Given the description of an element on the screen output the (x, y) to click on. 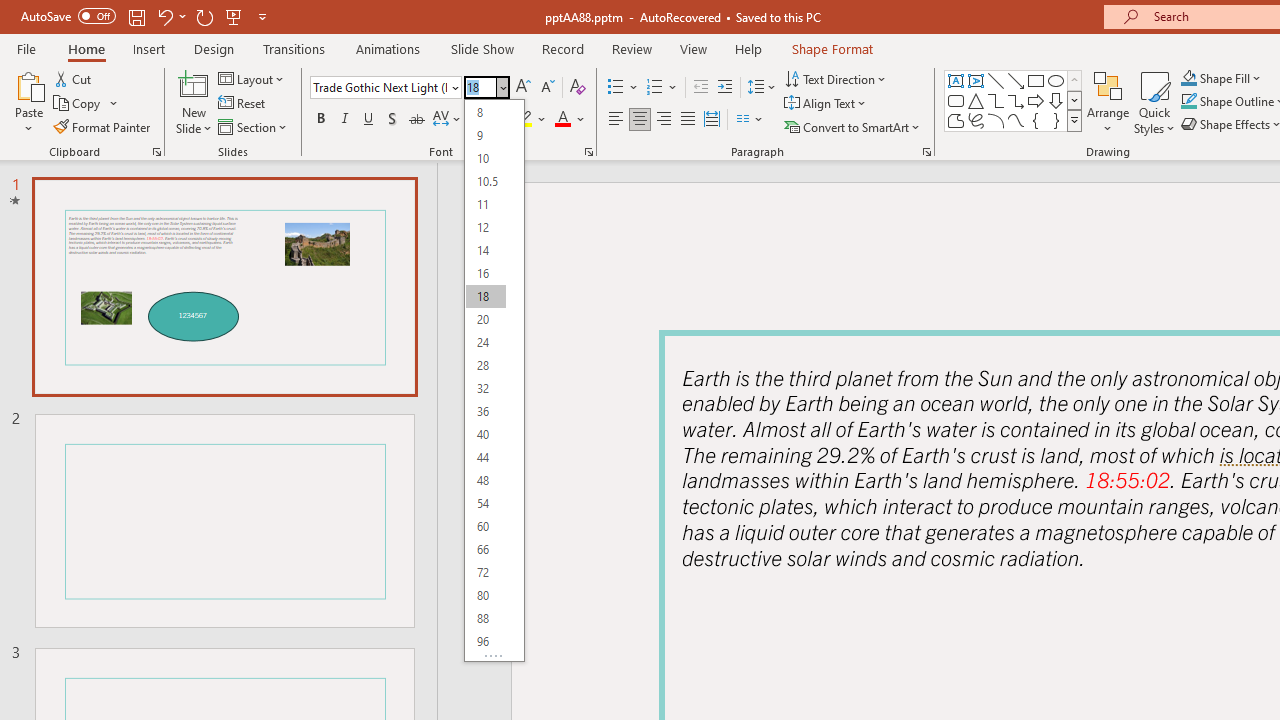
Shape Outline Teal, Accent 1 (1188, 101)
28 (485, 365)
8 (485, 111)
72 (485, 571)
18 (485, 296)
14 (485, 250)
54 (485, 502)
